Given the description of an element on the screen output the (x, y) to click on. 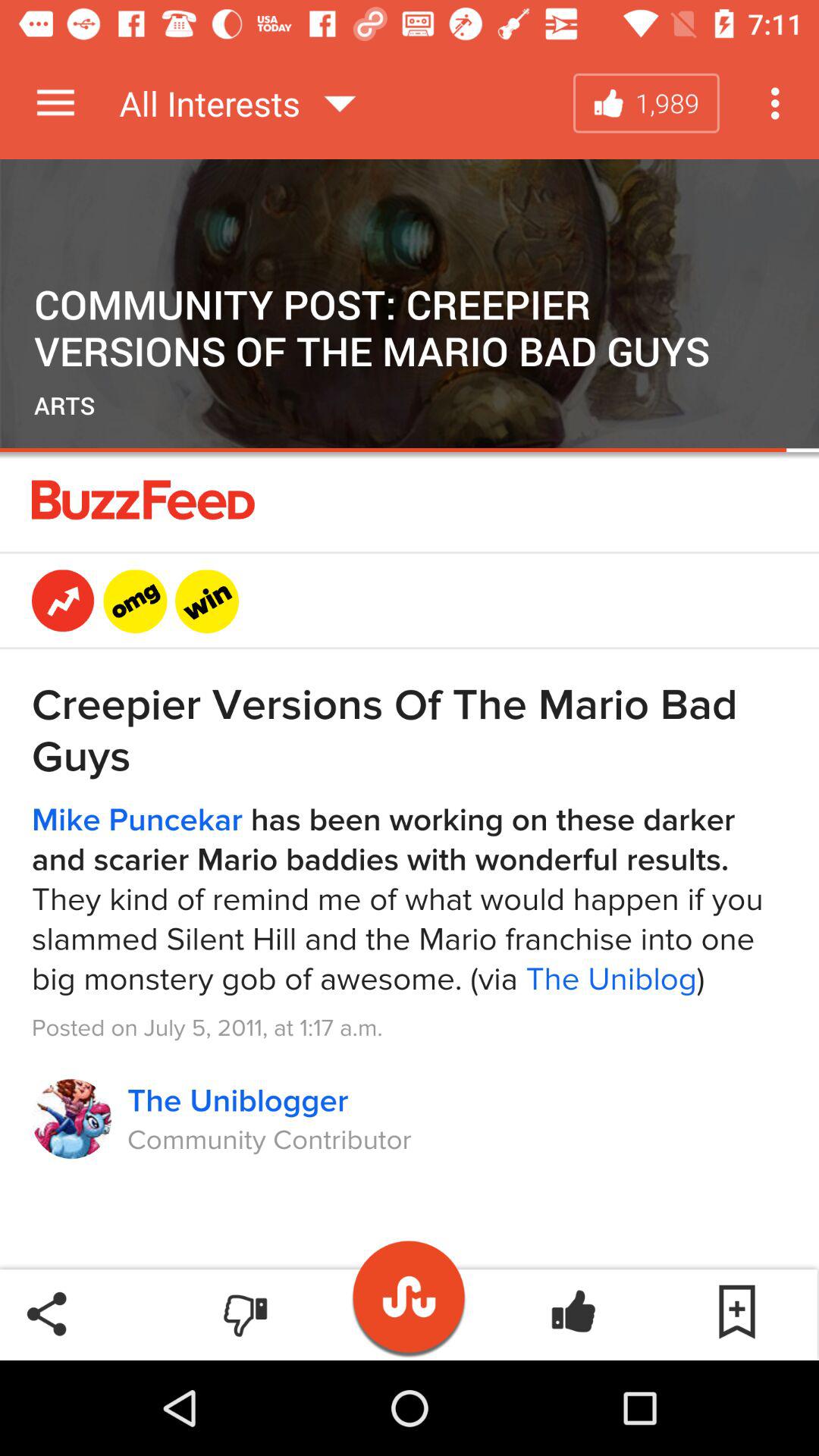
home button (409, 1288)
